Given the description of an element on the screen output the (x, y) to click on. 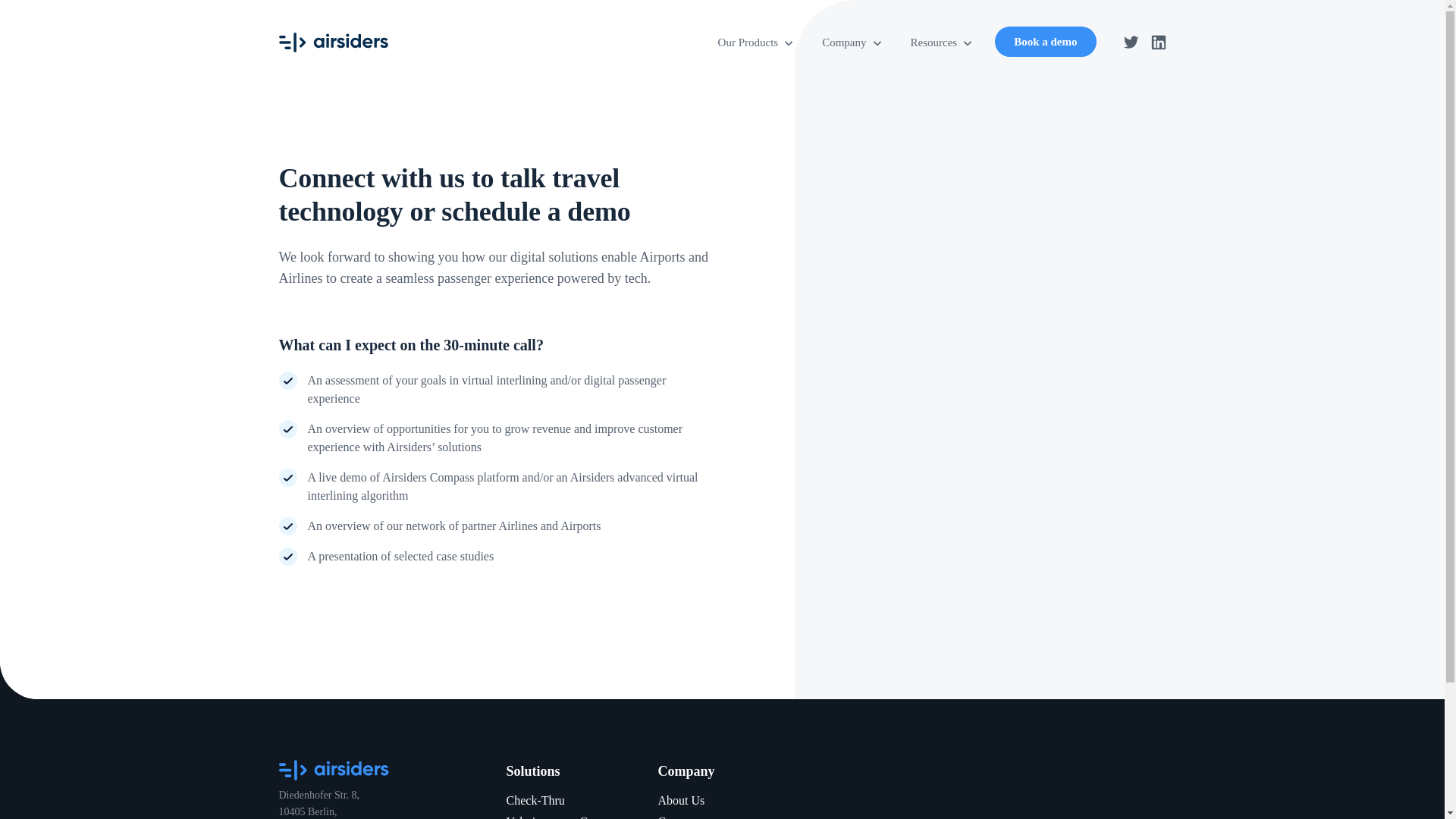
Company (851, 42)
Careers (676, 816)
Volario (523, 816)
Check-Thru (535, 799)
Form 0 (1025, 249)
Book a demo (1045, 41)
Resources (941, 42)
Our Products (756, 42)
About Us (681, 799)
Compass (601, 816)
